Given the description of an element on the screen output the (x, y) to click on. 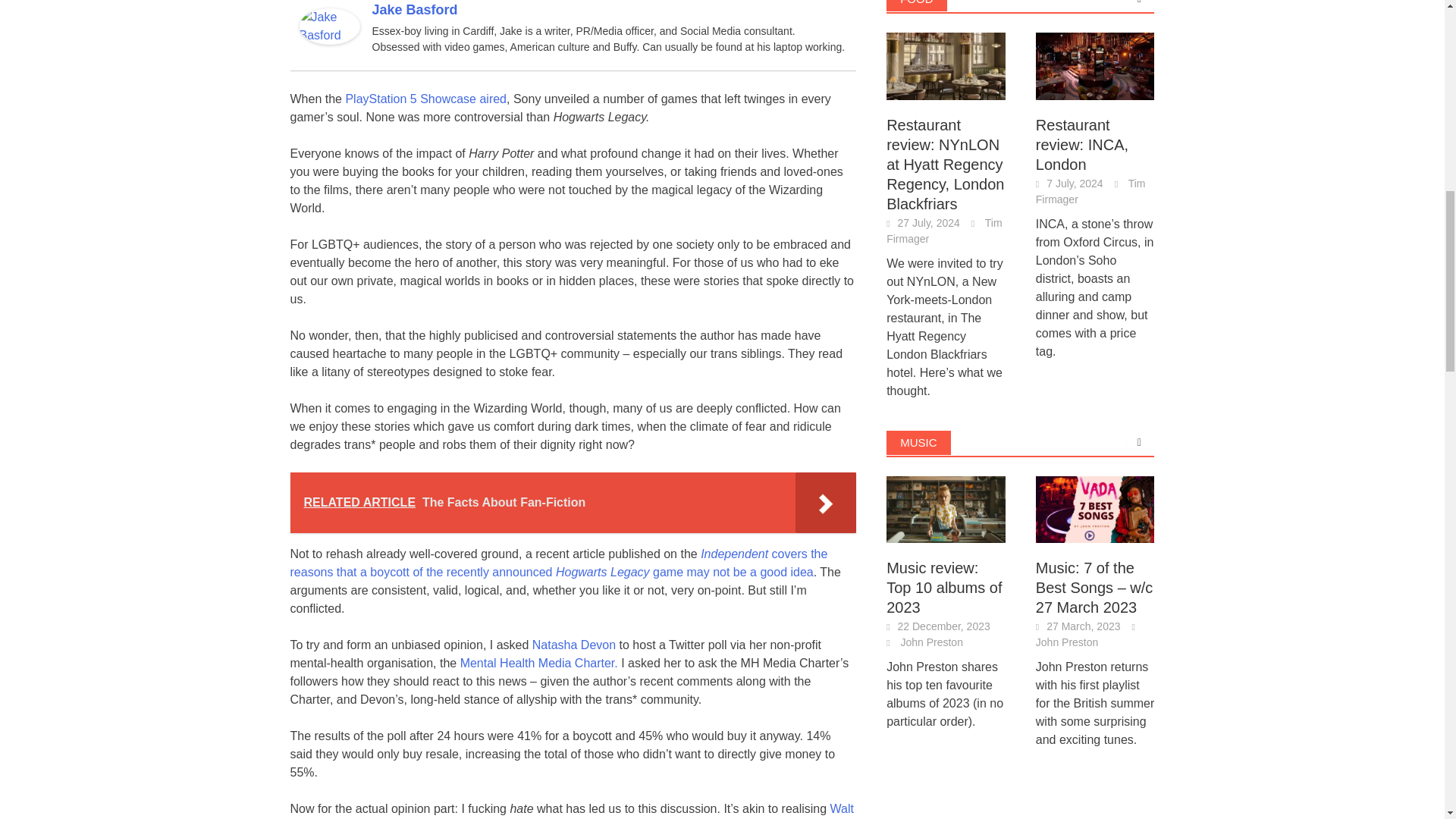
Restaurant review: INCA, London (1094, 65)
Restaurant review: INCA, London (1094, 64)
Jake Basford (328, 24)
